Given the description of an element on the screen output the (x, y) to click on. 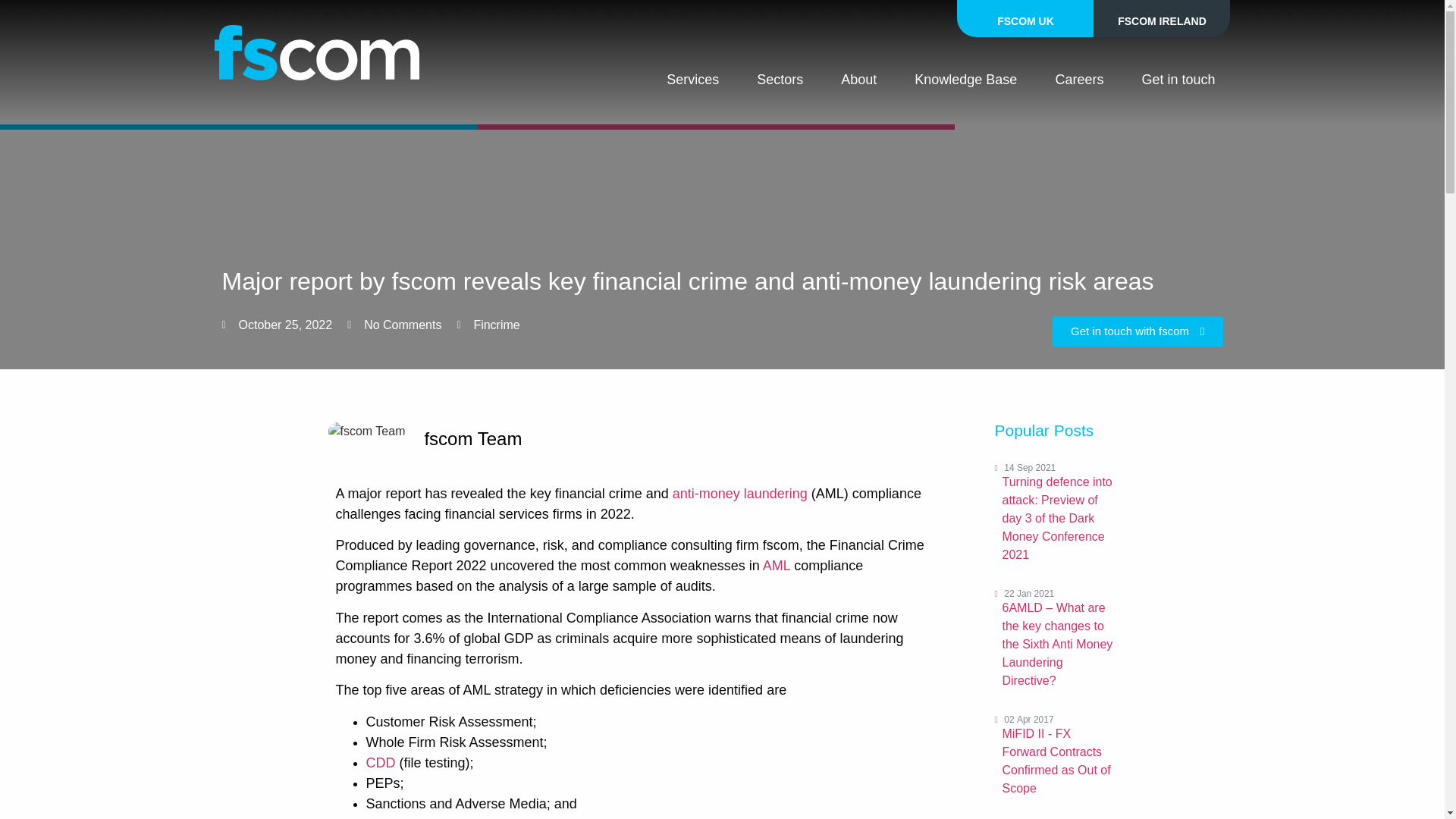
FSCOM UK (1024, 18)
FSCOM IRELAND (1161, 18)
Sectors (779, 79)
Services (691, 79)
